Given the description of an element on the screen output the (x, y) to click on. 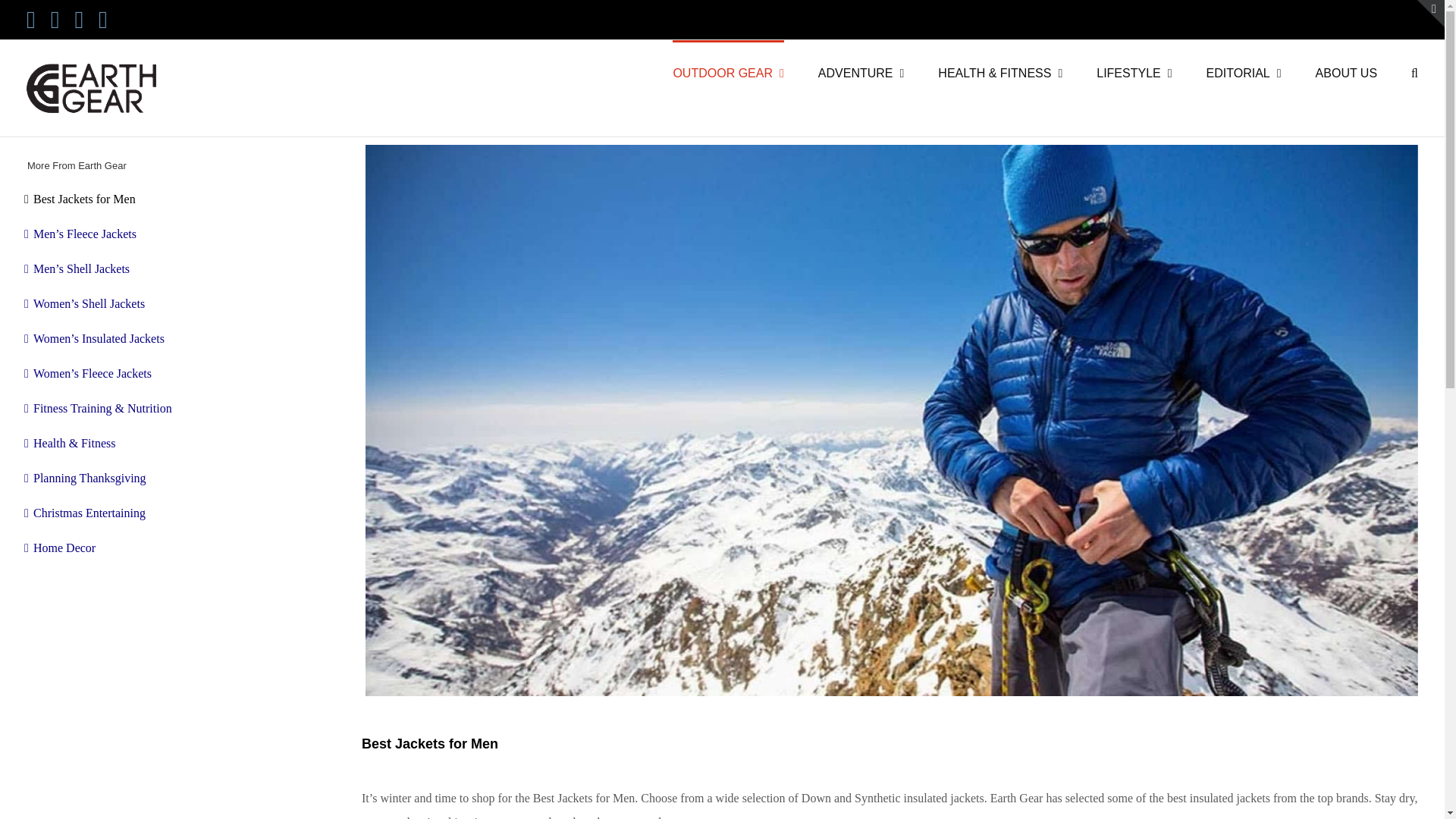
ADVENTURE (861, 72)
OUTDOOR GEAR (727, 72)
